Given the description of an element on the screen output the (x, y) to click on. 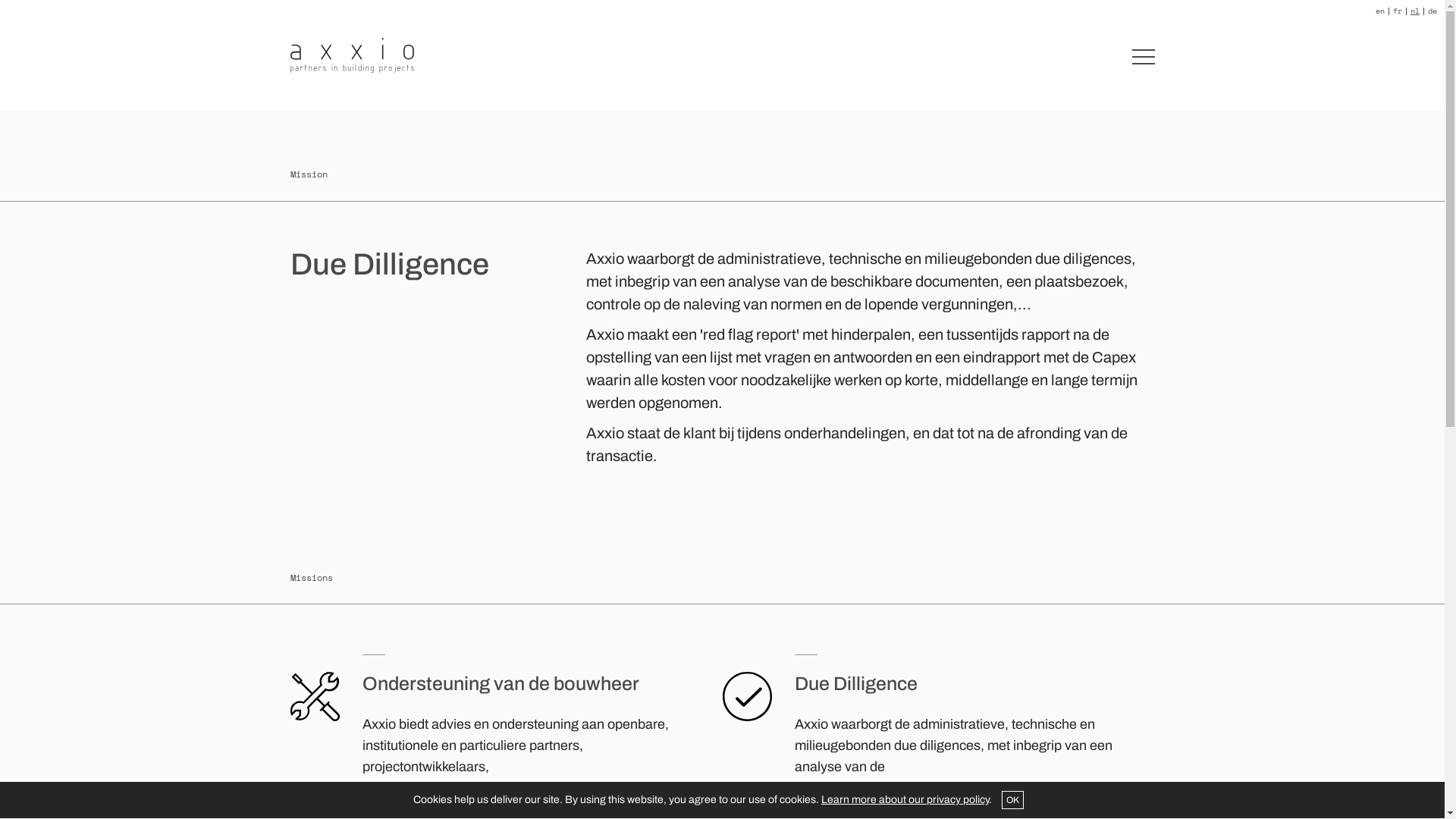
OK Element type: text (1012, 799)
nl Element type: text (1414, 10)
de Element type: text (1432, 10)
fr Element type: text (1397, 10)
en Element type: text (1379, 10)
Learn more about our privacy policy Element type: text (904, 799)
